Given the description of an element on the screen output the (x, y) to click on. 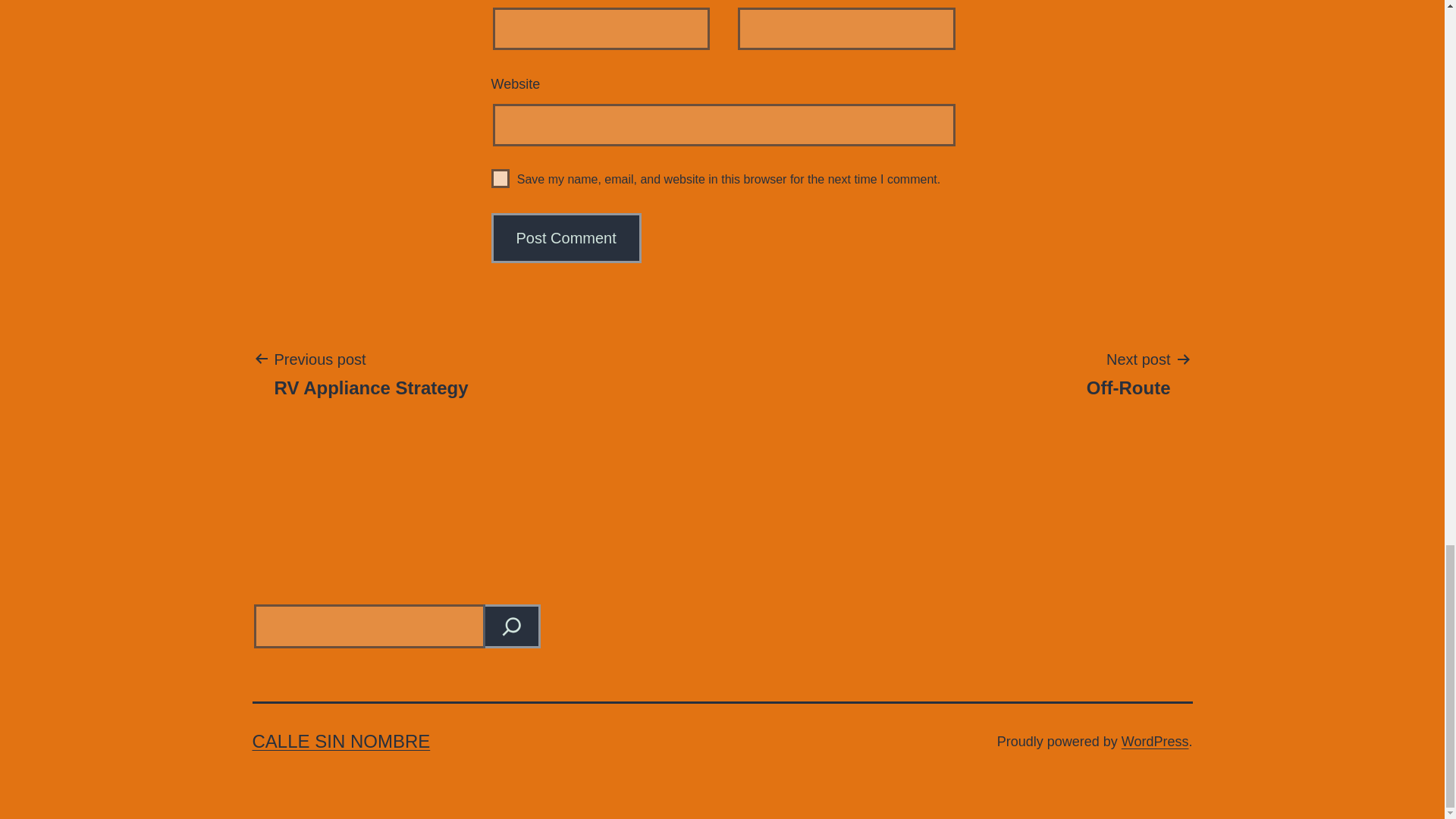
Post Comment (567, 237)
CALLE SIN NOMBRE (340, 741)
WordPress (1155, 741)
Post Comment (370, 372)
yes (567, 237)
